Given the description of an element on the screen output the (x, y) to click on. 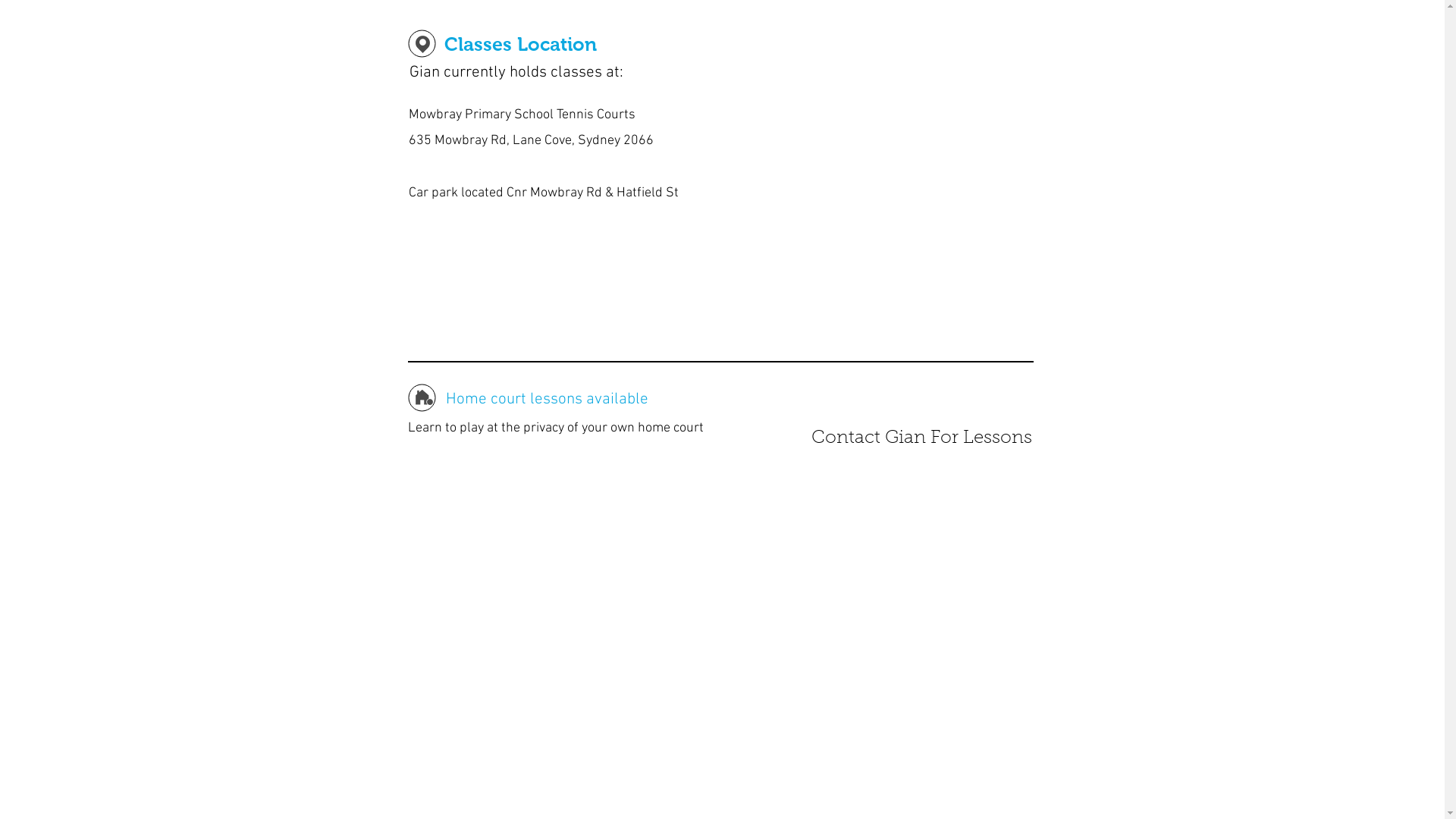
Google Maps Element type: hover (894, 170)
Contact Gian For Lessons Element type: text (920, 438)
